Given the description of an element on the screen output the (x, y) to click on. 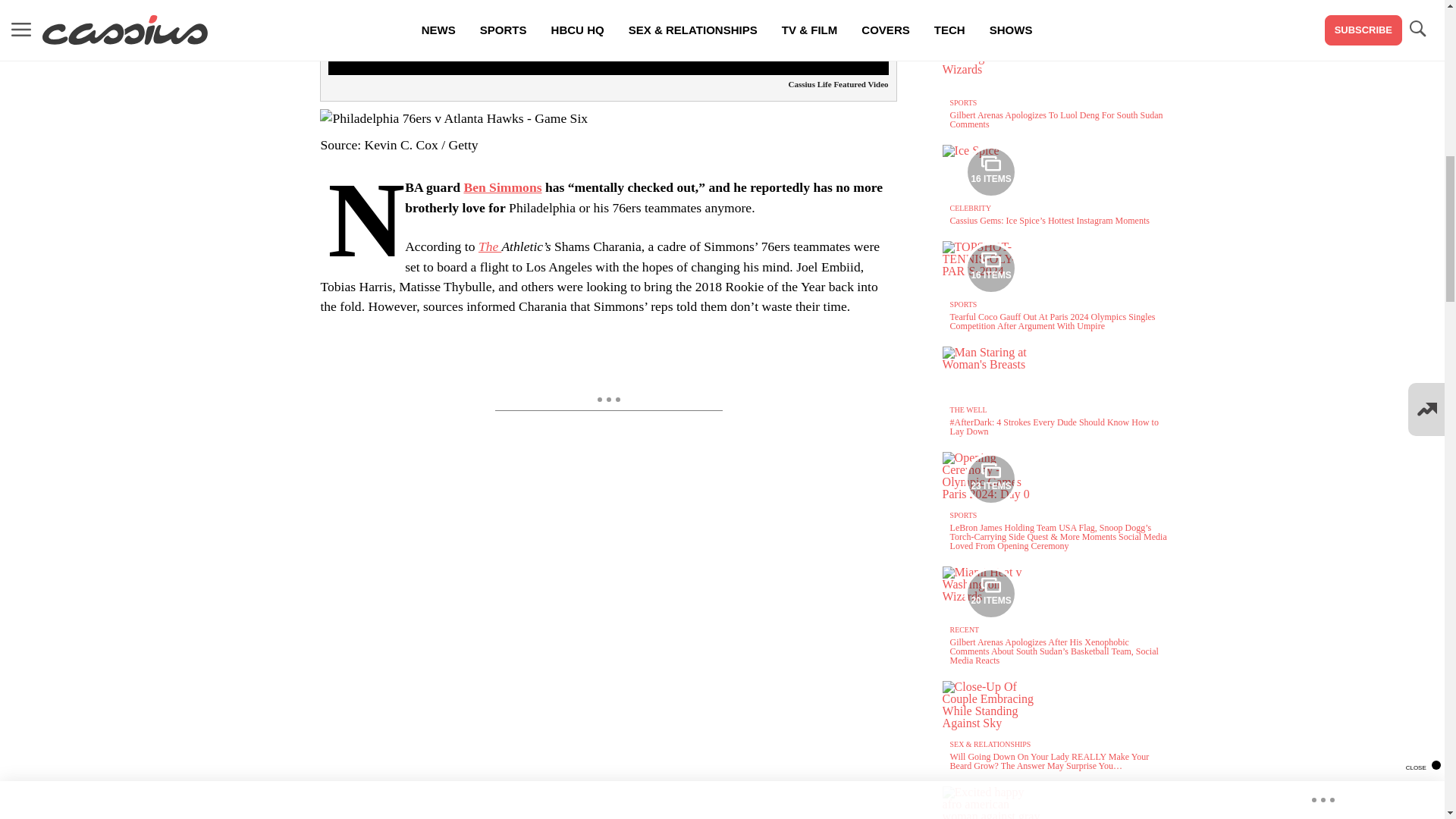
Media Playlist (990, 267)
Media Playlist (990, 172)
The (489, 246)
Media Playlist (990, 593)
Media Playlist (990, 479)
Ben Simmons (502, 186)
